Given the description of an element on the screen output the (x, y) to click on. 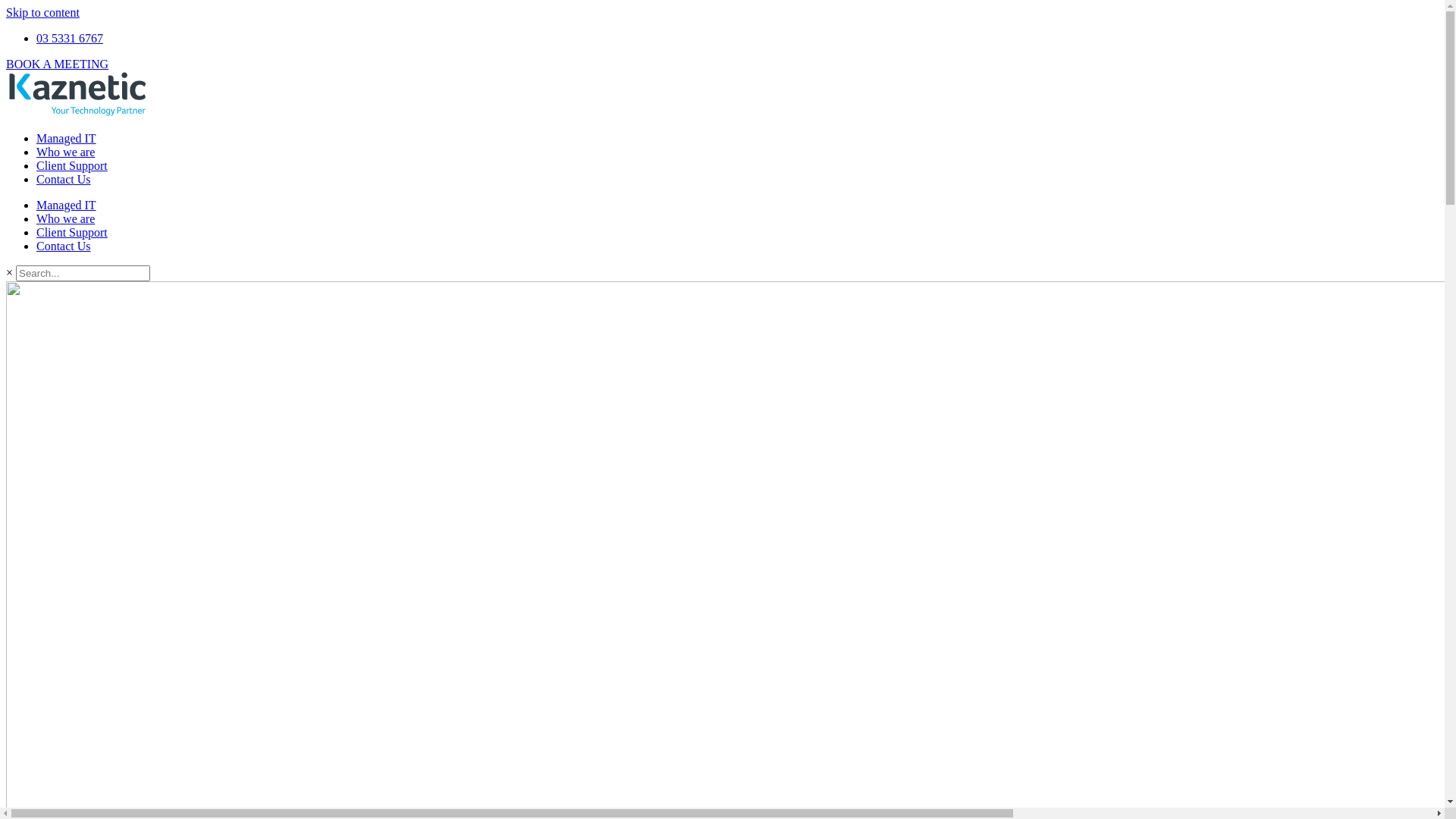
Contact Us Element type: text (63, 178)
Who we are Element type: text (65, 218)
Who we are Element type: text (65, 151)
03 5331 6767 Element type: text (69, 37)
Client Support Element type: text (71, 165)
Contact Us Element type: text (63, 245)
Managed IT Element type: text (66, 137)
BOOK A MEETING Element type: text (57, 63)
Skip to content Element type: text (42, 12)
Client Support Element type: text (71, 231)
Managed IT Element type: text (66, 204)
